Given the description of an element on the screen output the (x, y) to click on. 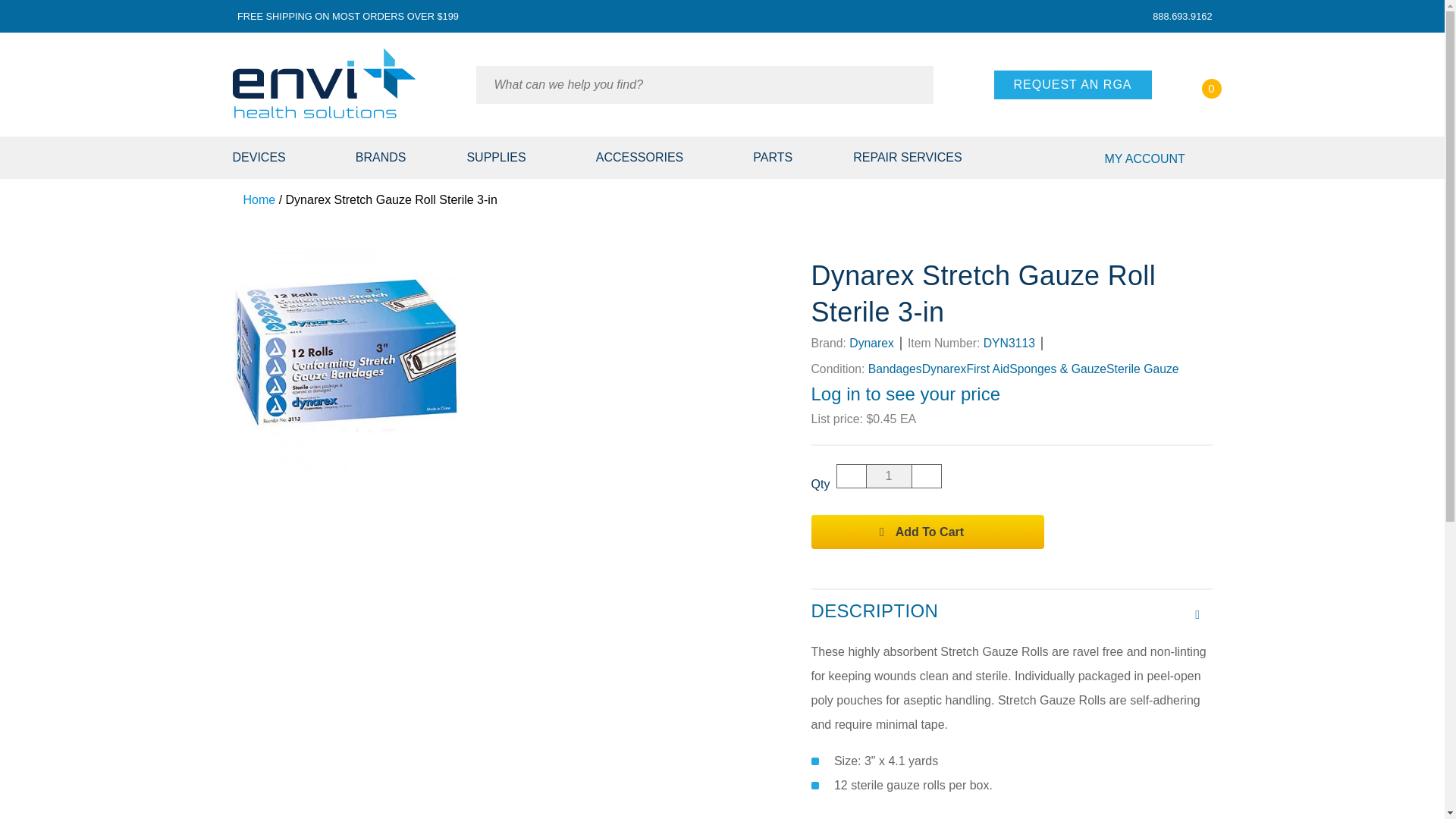
888.693.9162 (1180, 16)
SUPPLIES (499, 157)
Home (253, 199)
REQUEST AN RGA (1072, 84)
1 (888, 476)
BRANDS (380, 157)
DEVICES (277, 157)
